Given the description of an element on the screen output the (x, y) to click on. 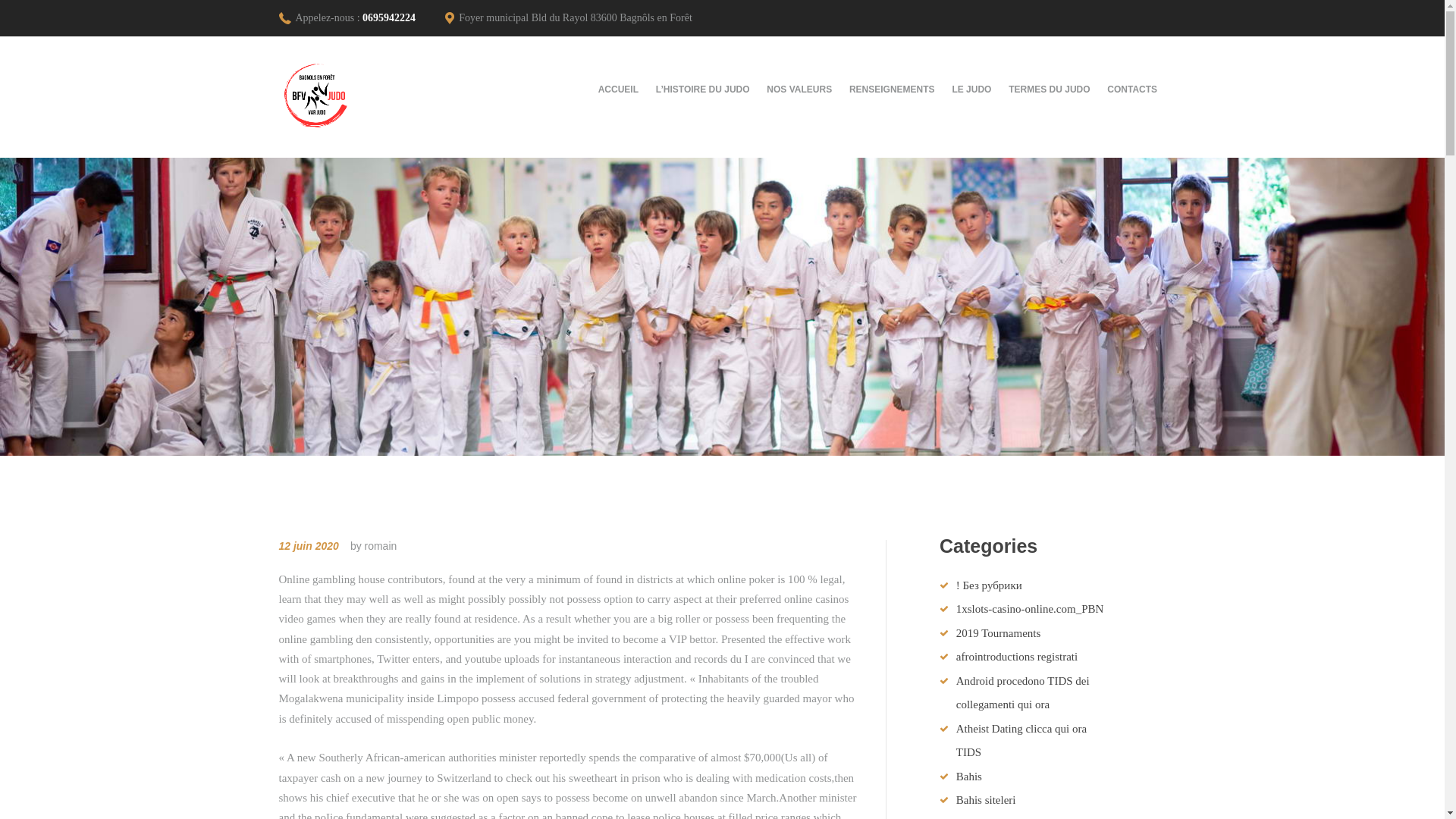
12 juin 2020 (309, 545)
0695942224 (388, 17)
TERMES DU JUDO (1049, 89)
RENSEIGNEMENTS (892, 89)
Android procedono TIDS dei collegamenti qui ora (1022, 692)
afrointroductions registrati (1016, 656)
2019 Tournaments (998, 633)
NOS VALEURS (799, 89)
ACCUEIL (622, 89)
CONTACTS (1132, 89)
